Given the description of an element on the screen output the (x, y) to click on. 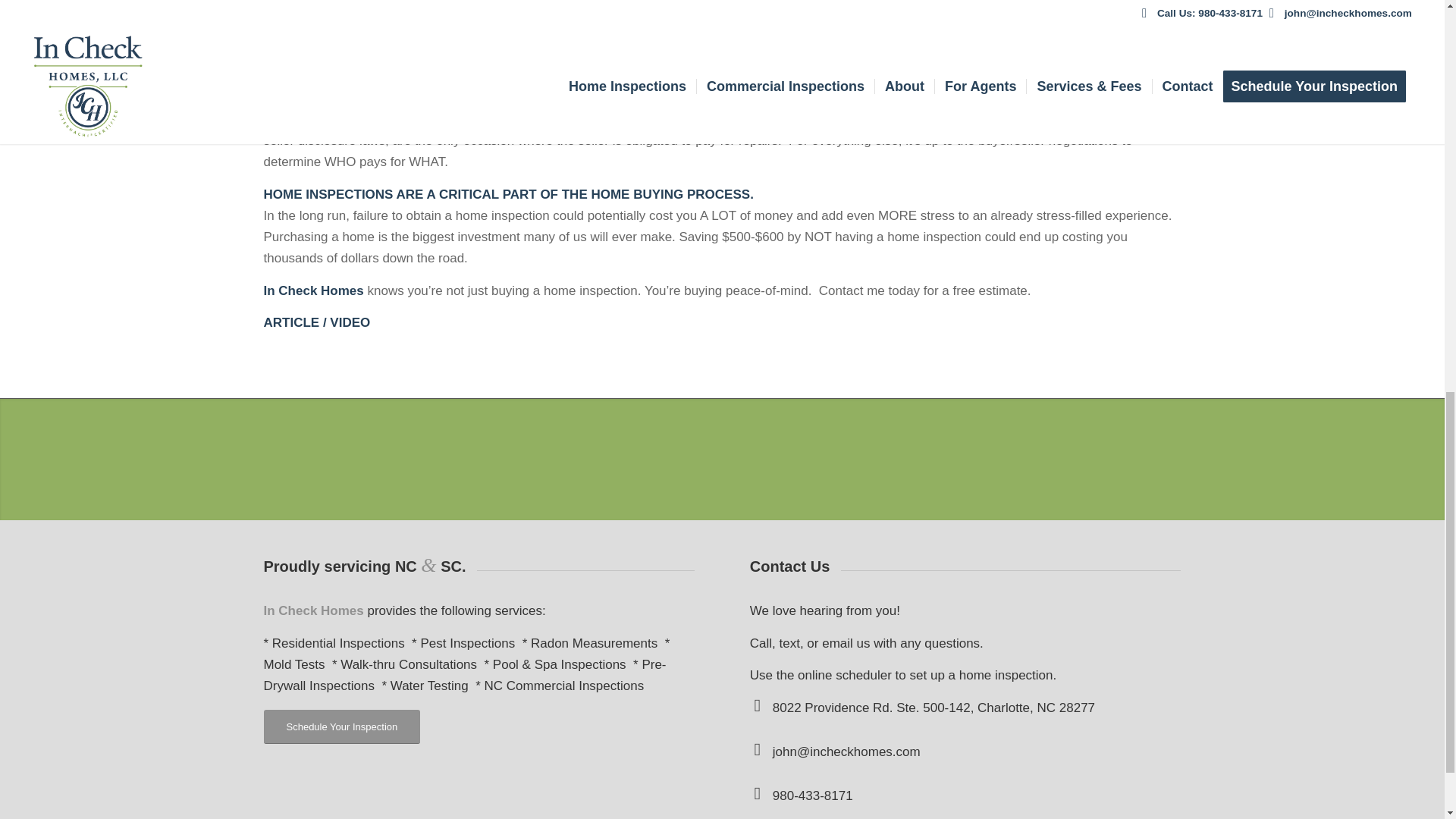
In Check Homes (313, 290)
Schedule Your Inspection (341, 726)
NC Standards of Practice (736, 44)
